Given the description of an element on the screen output the (x, y) to click on. 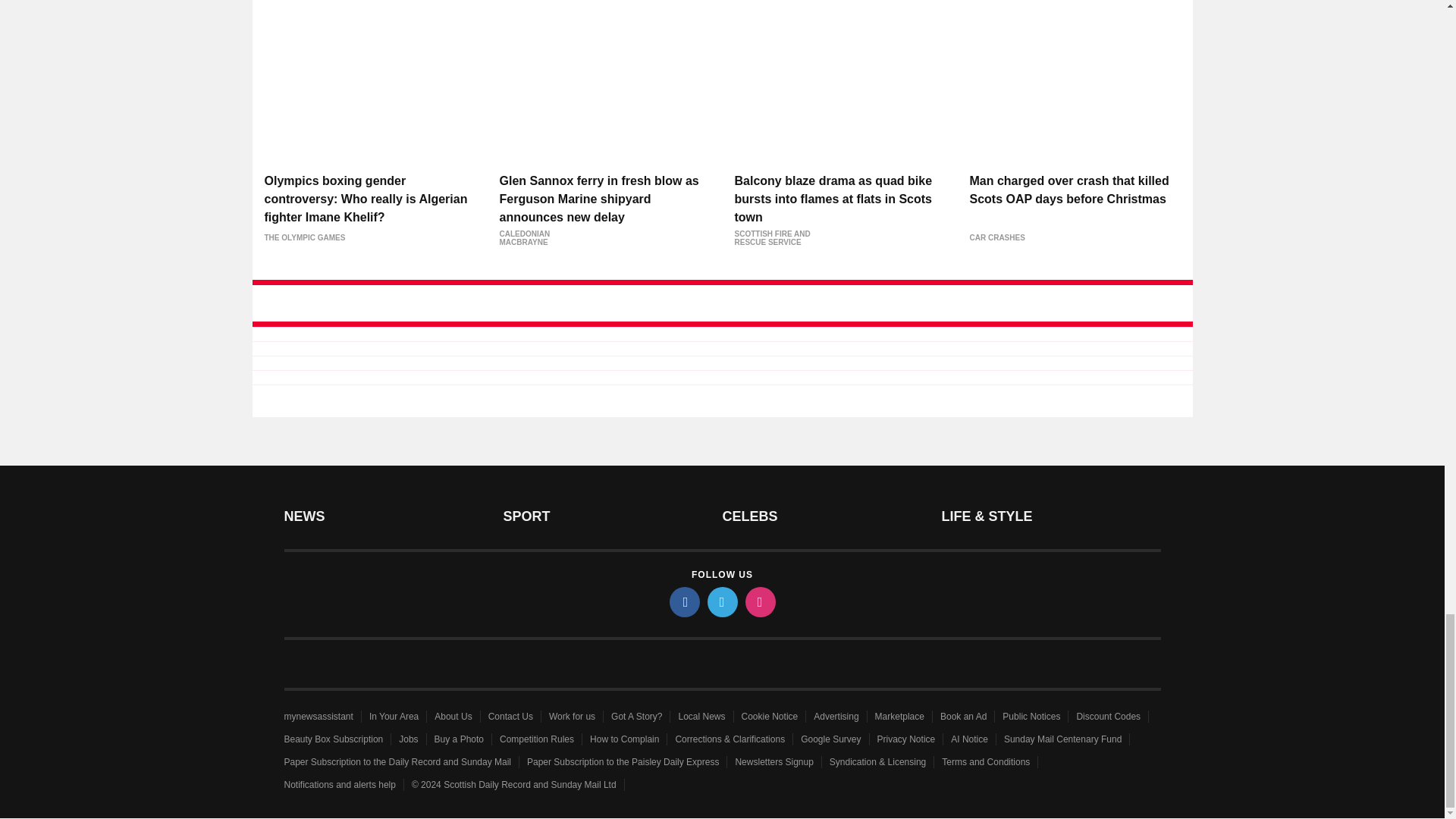
instagram (759, 602)
facebook (683, 602)
twitter (721, 602)
